Given the description of an element on the screen output the (x, y) to click on. 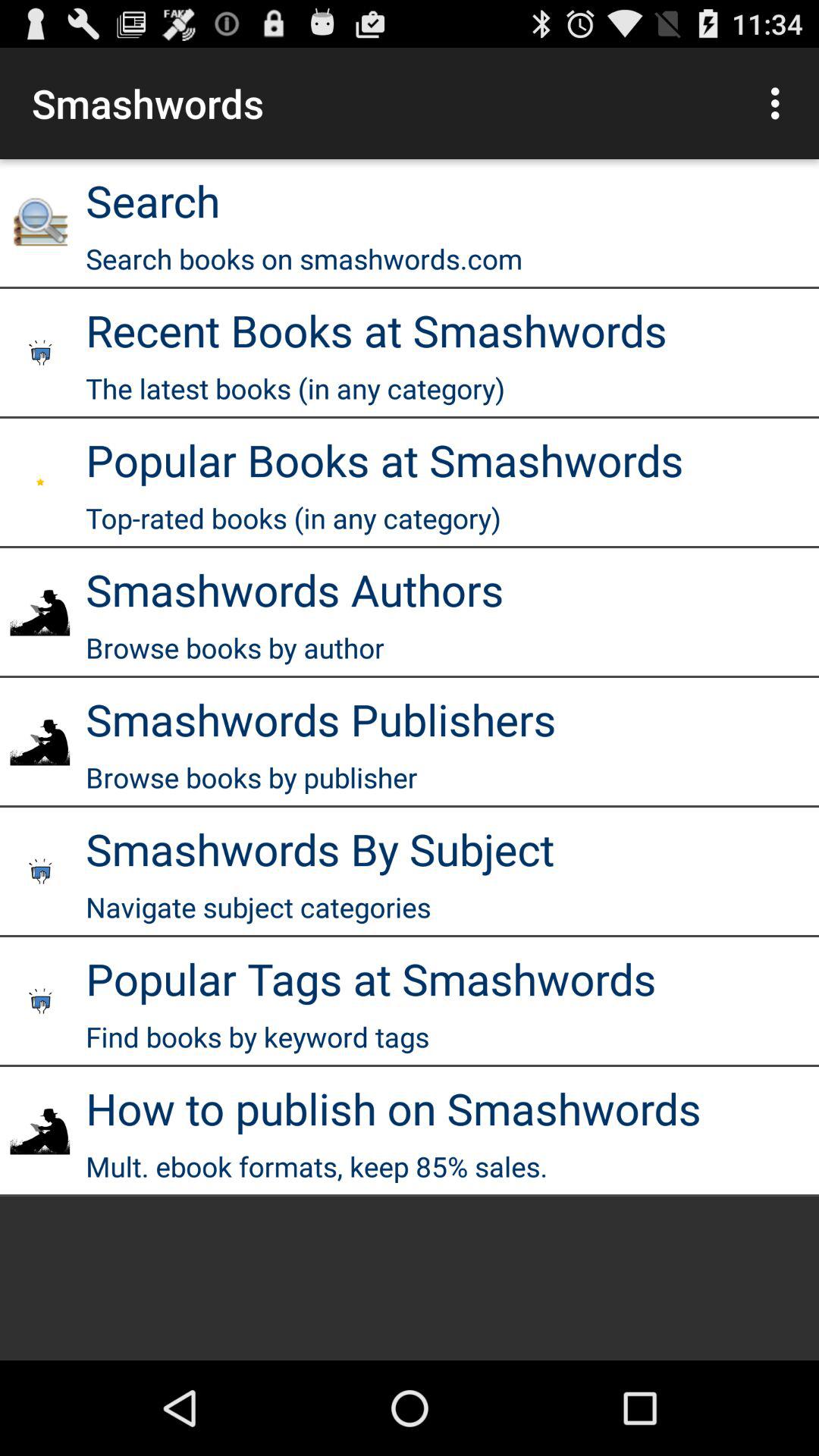
turn on app above the navigate subject categories app (319, 848)
